Given the description of an element on the screen output the (x, y) to click on. 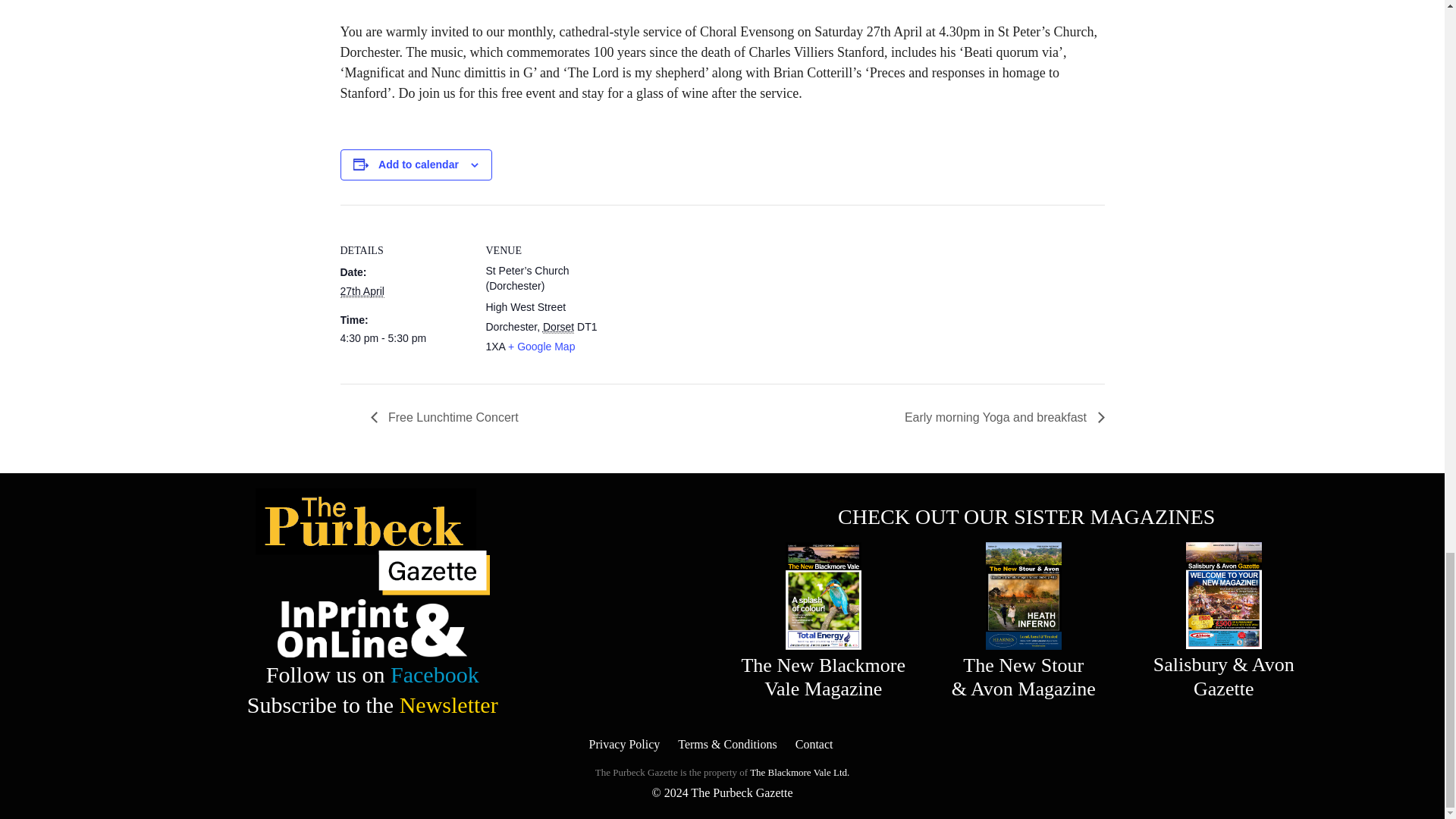
Dorset (558, 327)
Click to view a Google Map (541, 346)
2024-04-27 (403, 338)
2024-04-27 (361, 291)
